Given the description of an element on the screen output the (x, y) to click on. 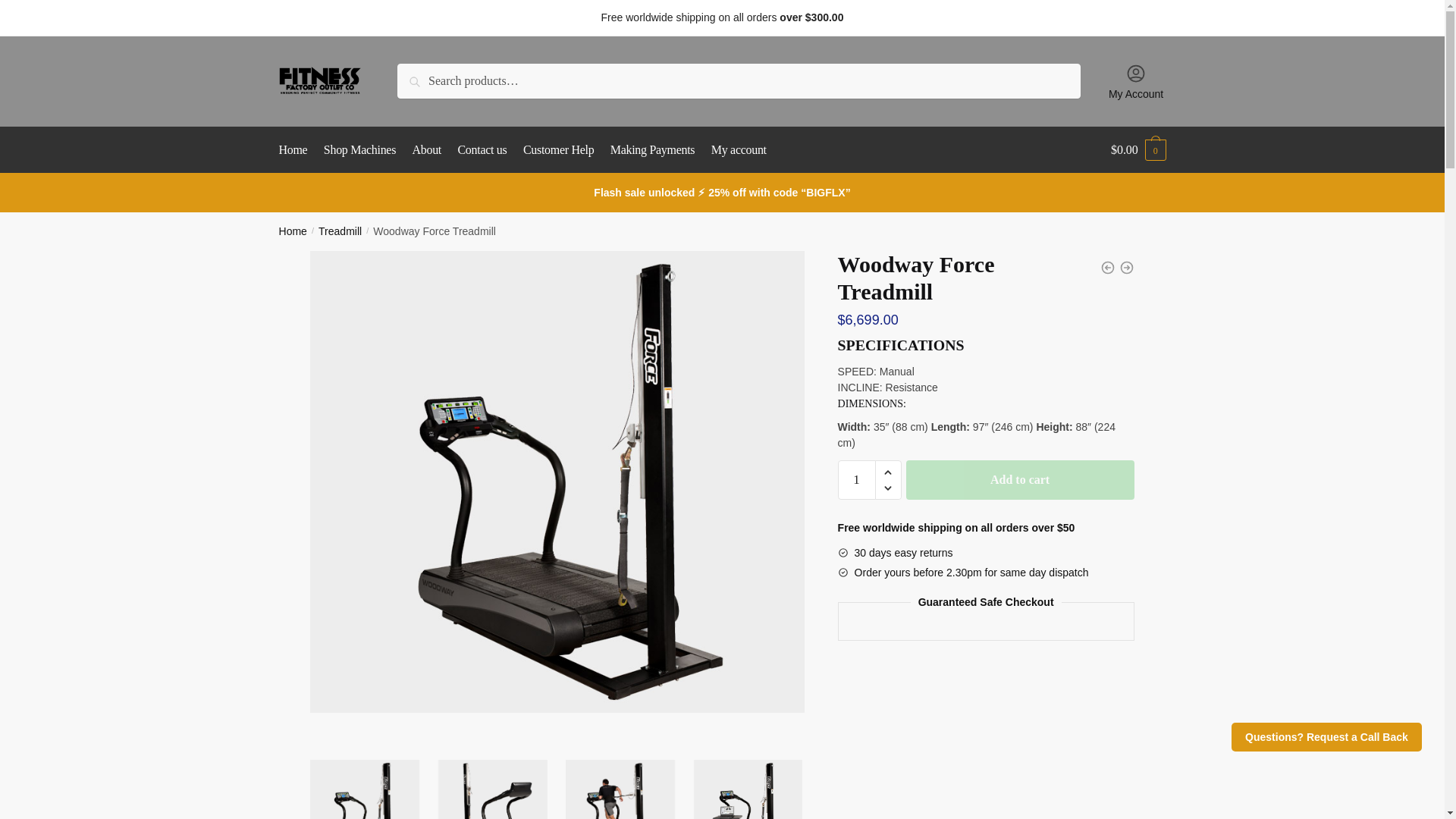
1 (857, 479)
Add to cart (1019, 479)
About (427, 149)
Making Payments (652, 149)
Questions? Request a Call Back (1326, 736)
Contact us (481, 149)
View your shopping cart (1138, 149)
My account (738, 149)
Treadmill (339, 231)
Search (432, 80)
Customer Help (557, 149)
Home (293, 231)
Shop Machines (359, 149)
My Account (1136, 80)
